Given the description of an element on the screen output the (x, y) to click on. 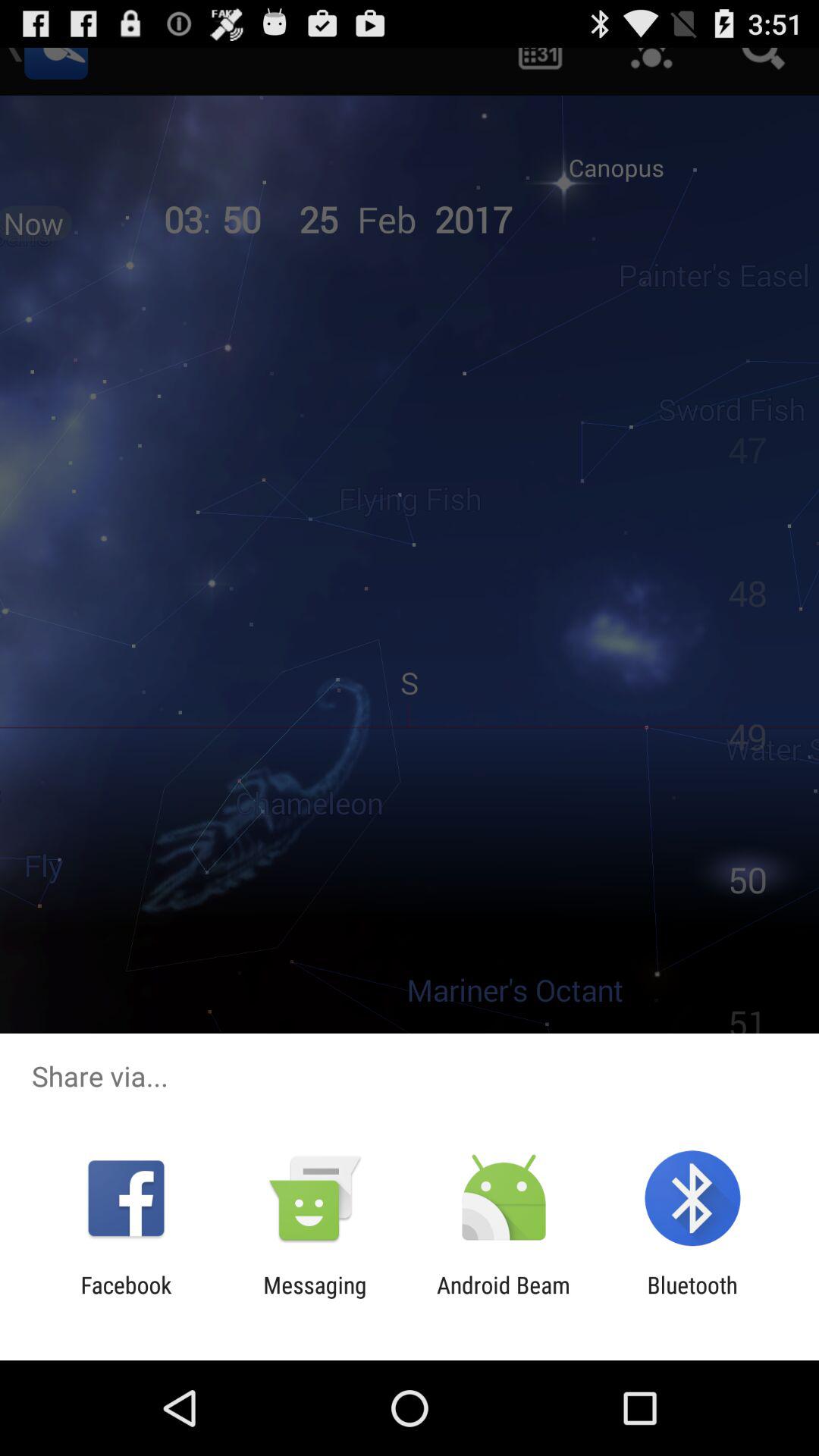
choose app next to the android beam item (692, 1298)
